Given the description of an element on the screen output the (x, y) to click on. 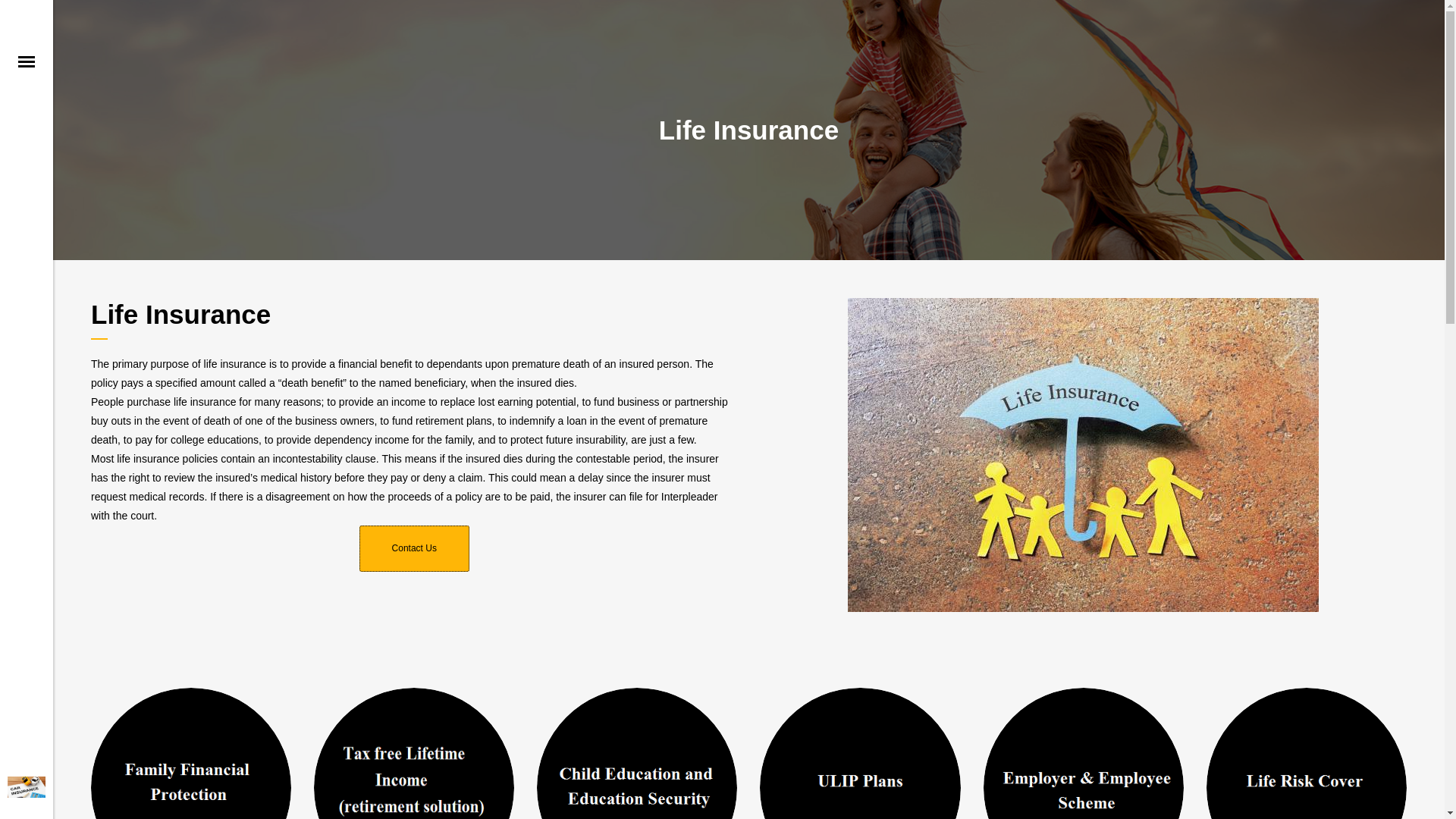
Contact Us (413, 548)
Untitled (1306, 753)
Untitled (190, 753)
Untitled (1083, 753)
